Given the description of an element on the screen output the (x, y) to click on. 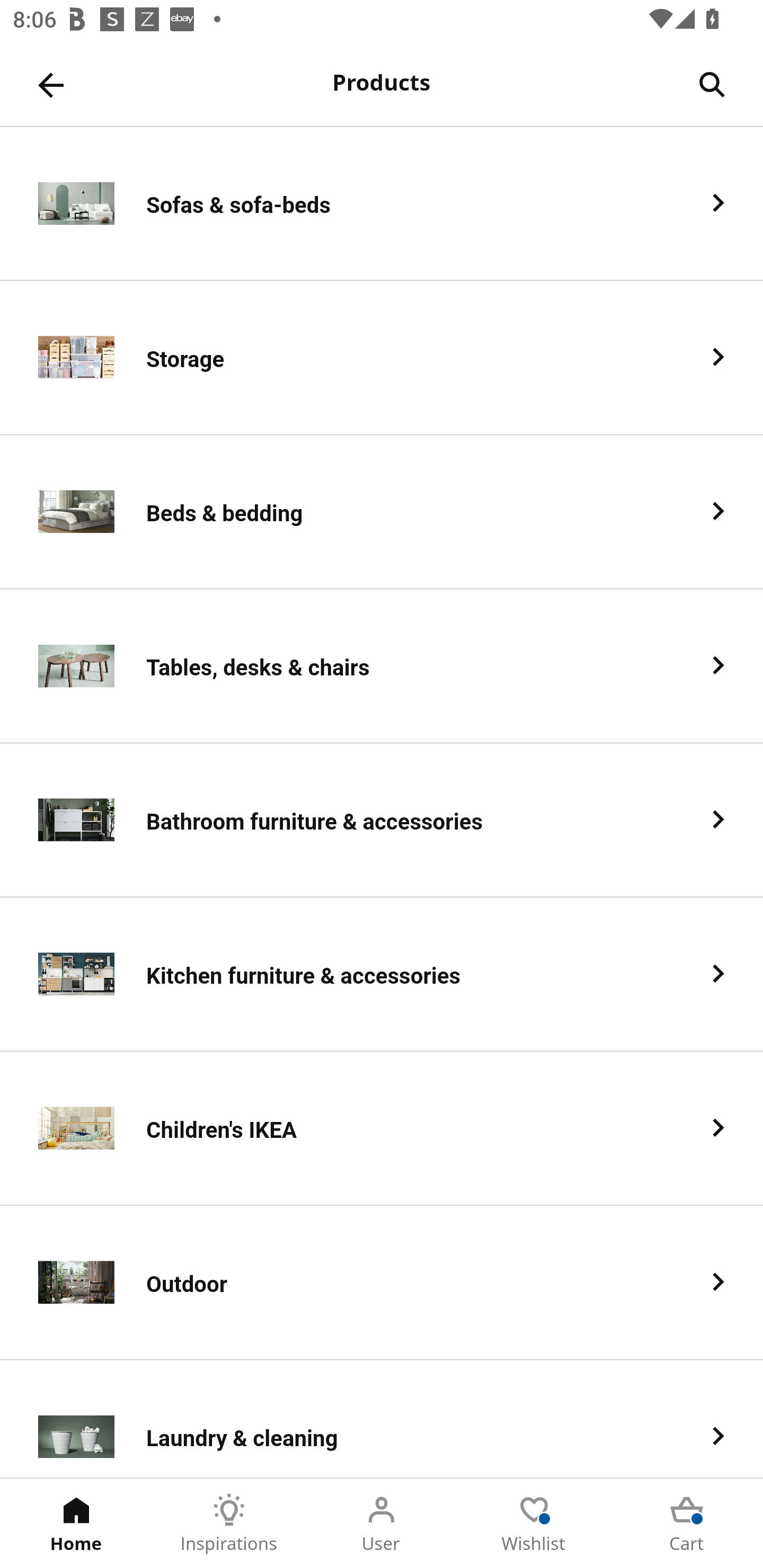
Sofas & sofa-beds (381, 203)
Storage (381, 357)
Beds & bedding (381, 512)
Tables, desks & chairs (381, 666)
Bathroom furniture & accessories (381, 820)
Kitchen furniture & accessories (381, 975)
Children's IKEA (381, 1128)
Outdoor (381, 1283)
Laundry & cleaning (381, 1419)
Home
Tab 1 of 5 (76, 1522)
Inspirations
Tab 2 of 5 (228, 1522)
User
Tab 3 of 5 (381, 1522)
Wishlist
Tab 4 of 5 (533, 1522)
Cart
Tab 5 of 5 (686, 1522)
